Given the description of an element on the screen output the (x, y) to click on. 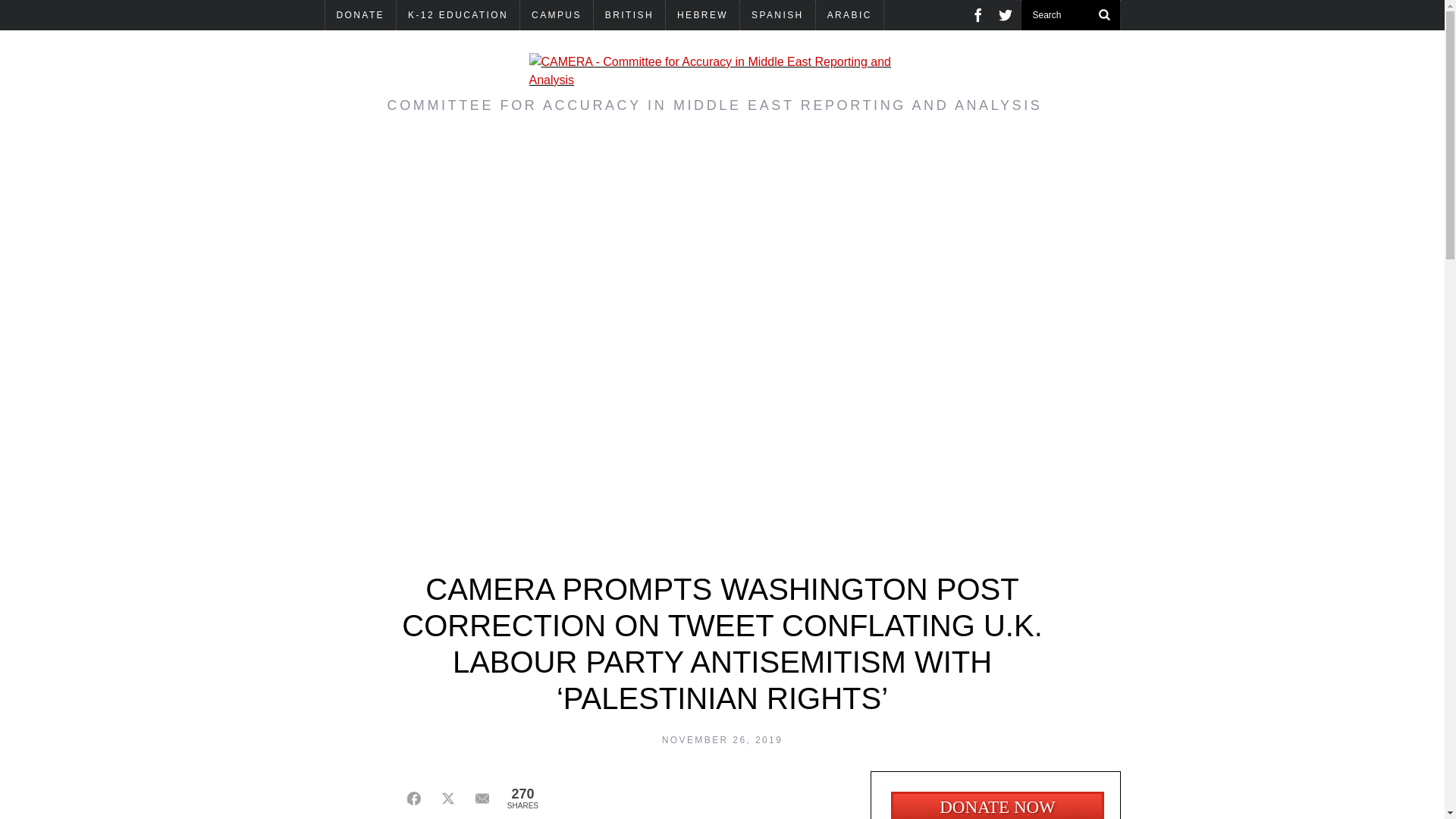
HEBREW (702, 14)
SPANISH (777, 14)
K-12 EDUCATION (457, 14)
DONATE (360, 14)
Share on Twitter (447, 798)
Share on E-mail (482, 798)
CAMPUS (555, 14)
Share on Facebook (414, 798)
Search (1070, 15)
